Given the description of an element on the screen output the (x, y) to click on. 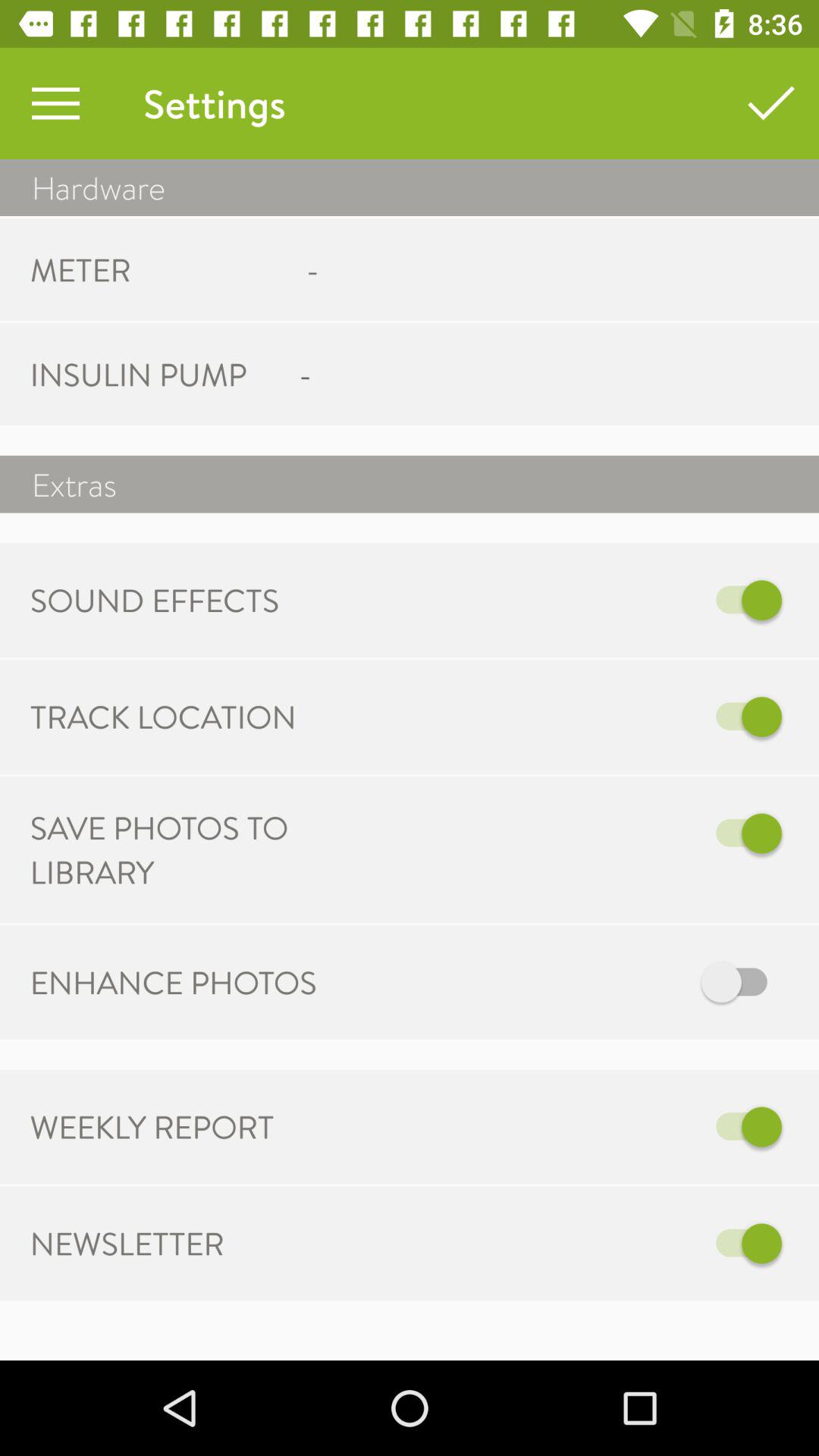
turn off track location (566, 716)
